Given the description of an element on the screen output the (x, y) to click on. 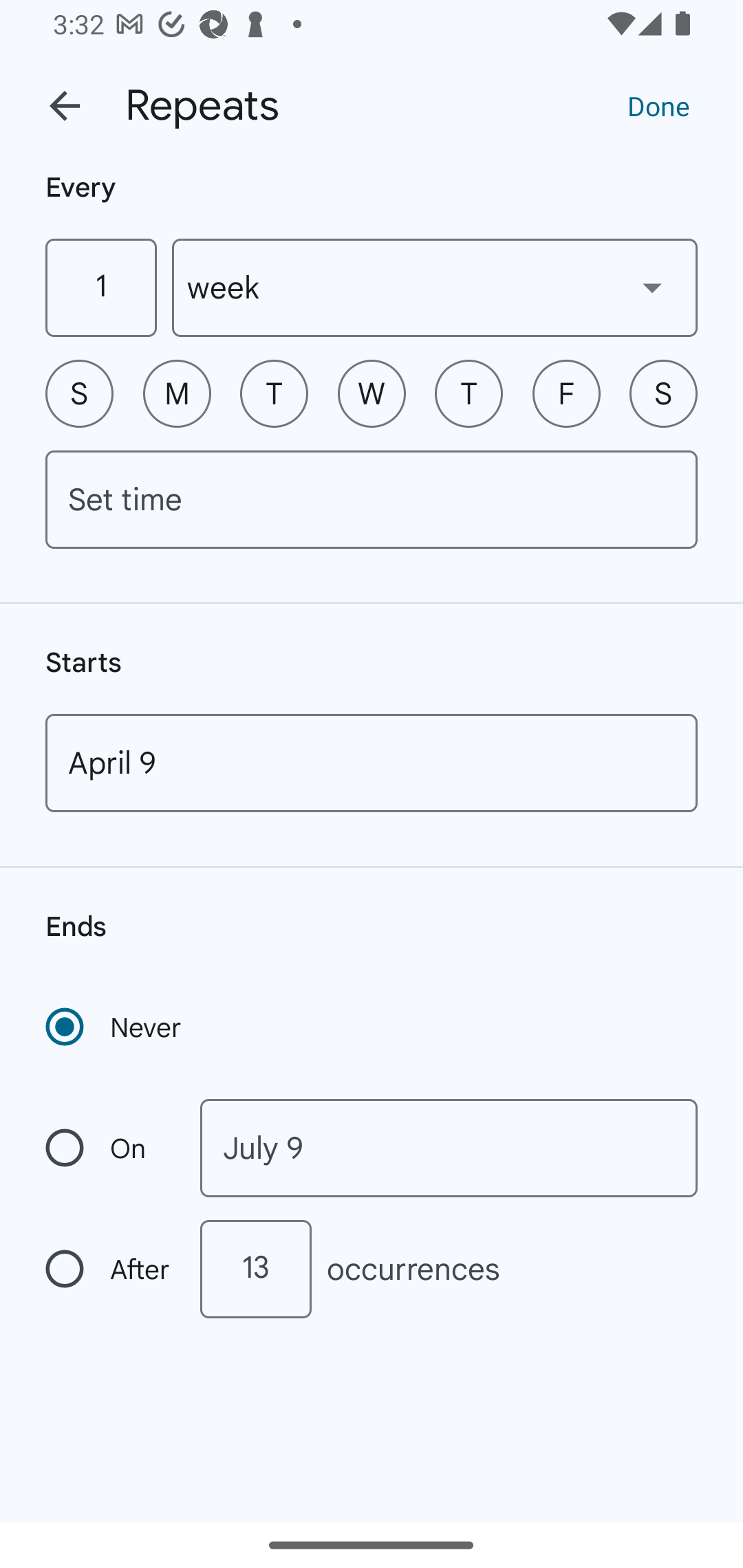
Back (64, 105)
Done (658, 105)
1 (100, 287)
week (434, 287)
Show dropdown menu (652, 286)
S Sunday (79, 393)
M Monday (177, 393)
T Tuesday (273, 393)
W Wednesday (371, 393)
T Thursday (468, 393)
F Friday (566, 393)
S Saturday (663, 393)
Set time (371, 499)
April 9 (371, 762)
Never Recurrence never ends (115, 1026)
July 9 (448, 1148)
On Recurrence ends on a specific date (109, 1148)
13 (255, 1268)
